Given the description of an element on the screen output the (x, y) to click on. 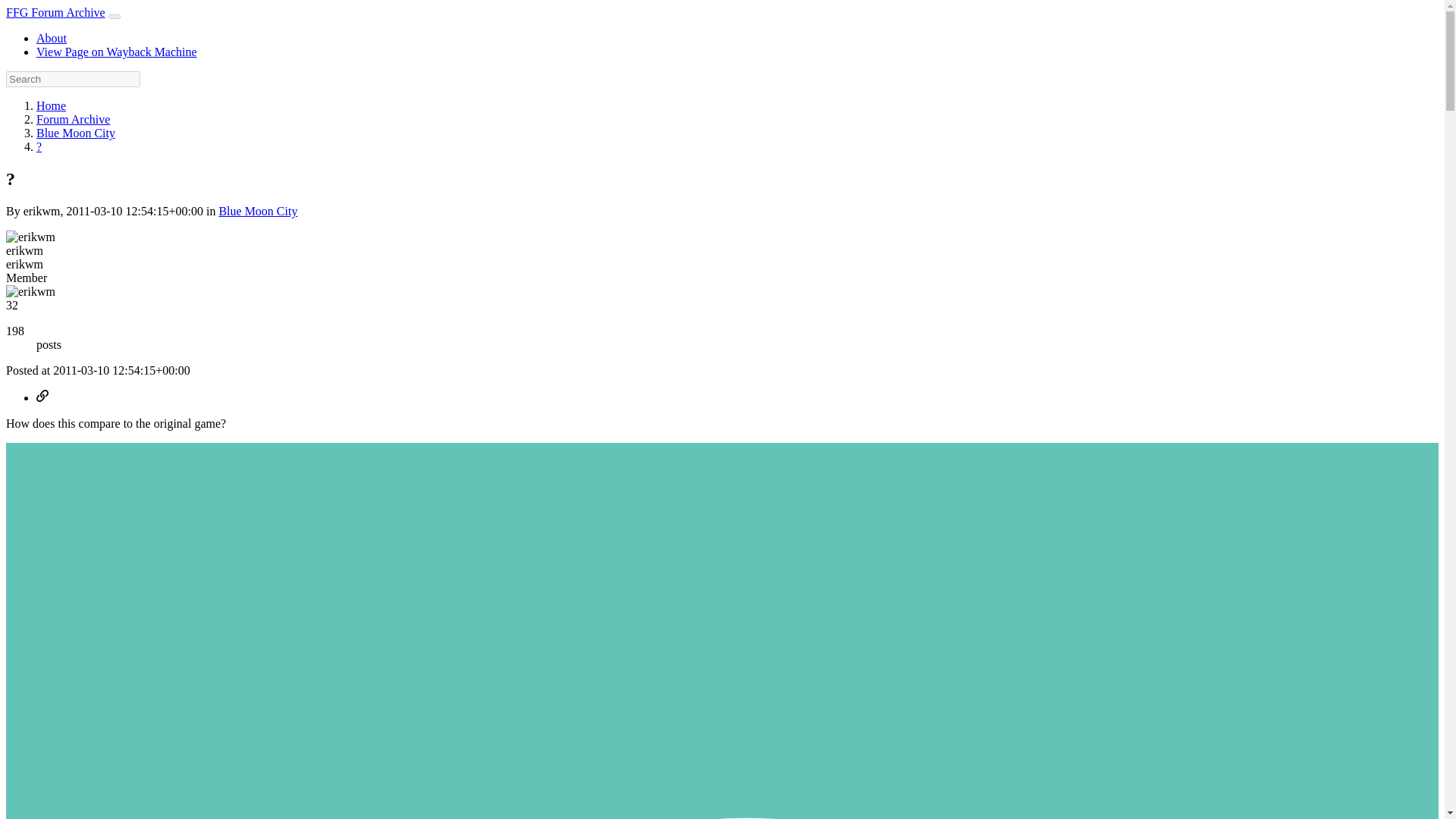
Blue Moon City (257, 210)
Home (50, 105)
Forum Archive (73, 119)
About (51, 38)
Blue Moon City (75, 132)
FFG Forum Archive (54, 11)
View Page on Wayback Machine (116, 51)
